Given the description of an element on the screen output the (x, y) to click on. 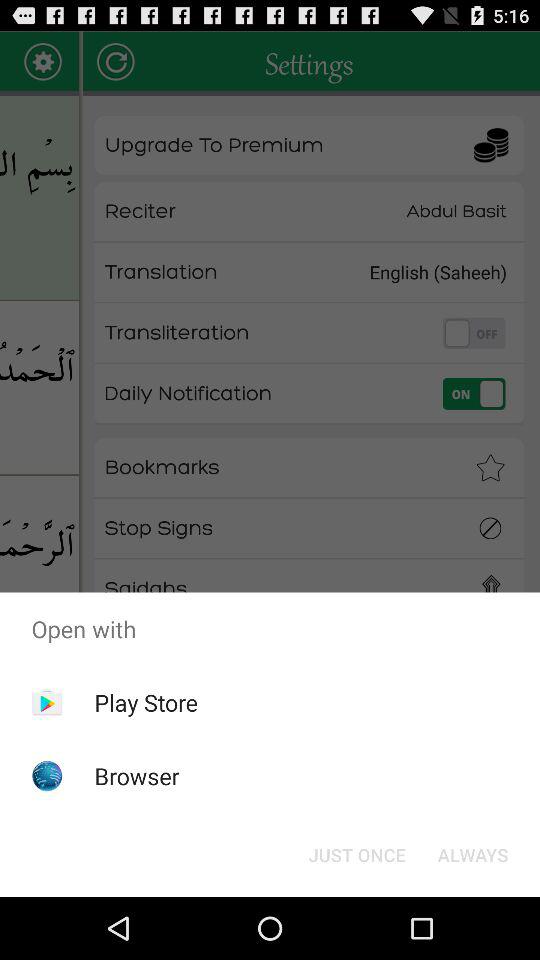
turn on just once icon (356, 854)
